Given the description of an element on the screen output the (x, y) to click on. 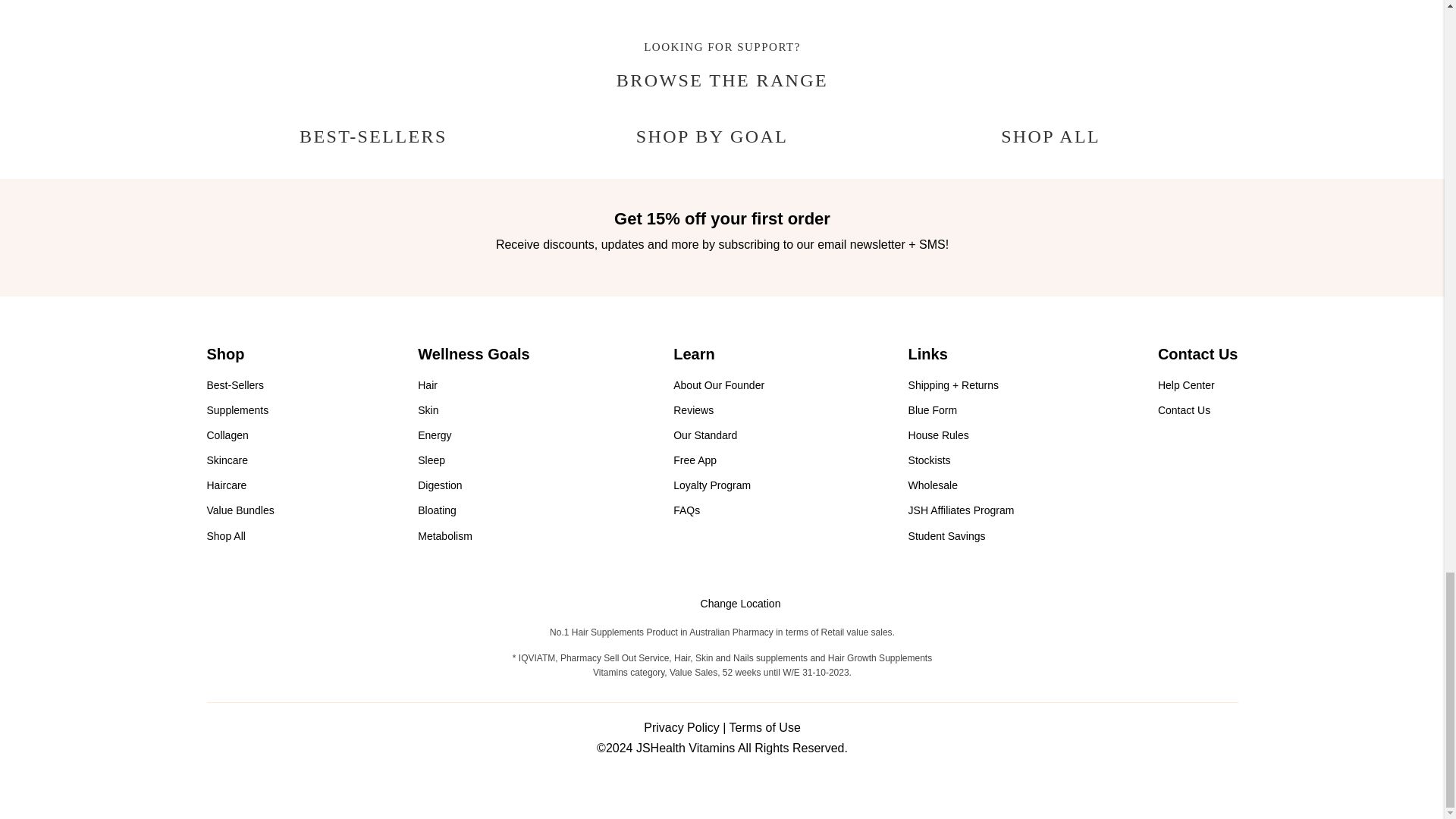
Privacy Policy (681, 727)
Terms of Service (764, 727)
